Given the description of an element on the screen output the (x, y) to click on. 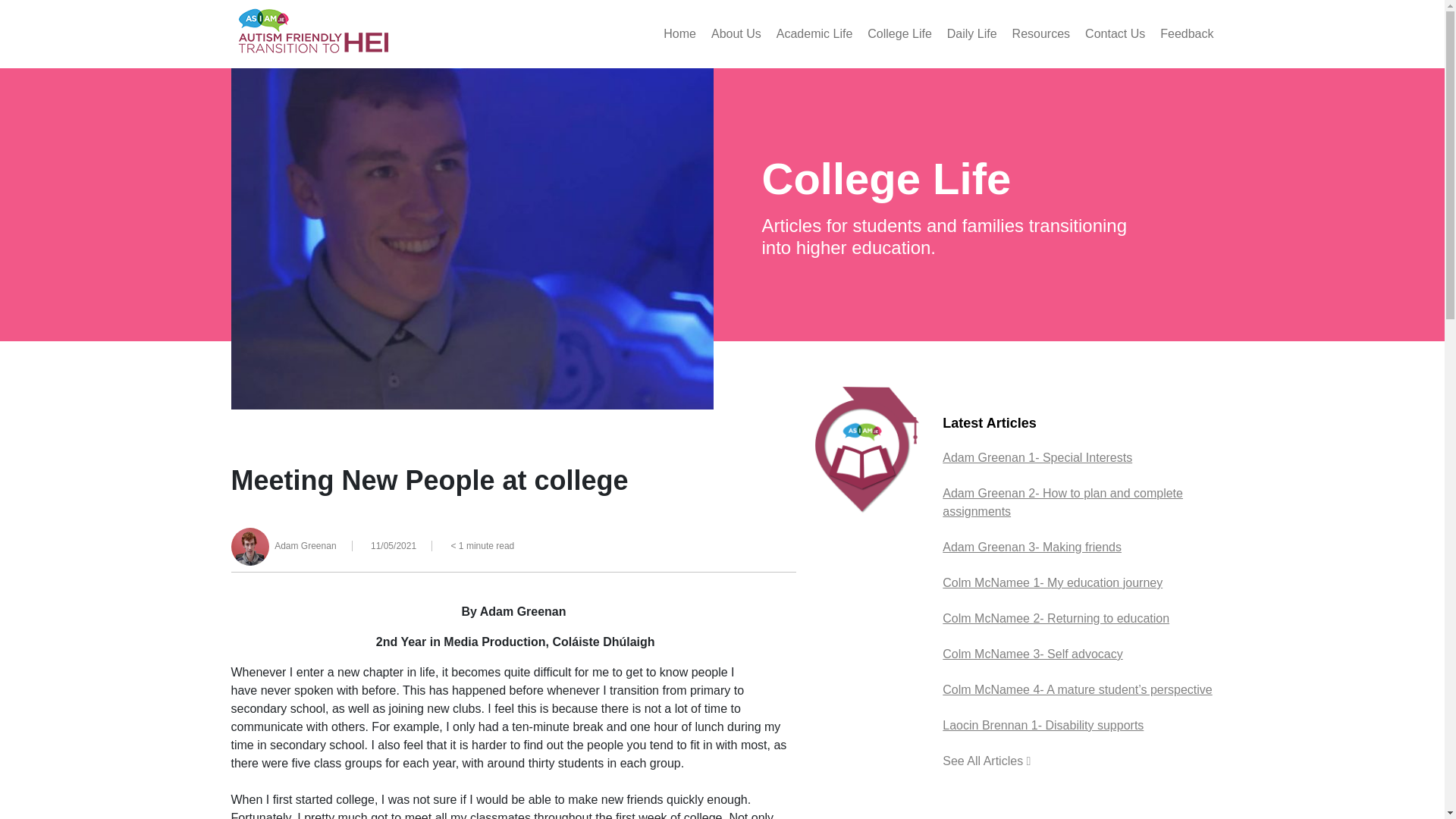
Daily Life (972, 34)
Colm McNamee 2- Returning to education (1055, 617)
Contact Us (1114, 34)
About Us (736, 34)
Academic Life (814, 34)
Colm McNamee 3- Self advocacy (1032, 653)
See All Articles (986, 760)
Colm McNamee 1- My education journey (1051, 582)
College Life (899, 34)
Adam Greenan 1- Special Interests (1037, 457)
